Given the description of an element on the screen output the (x, y) to click on. 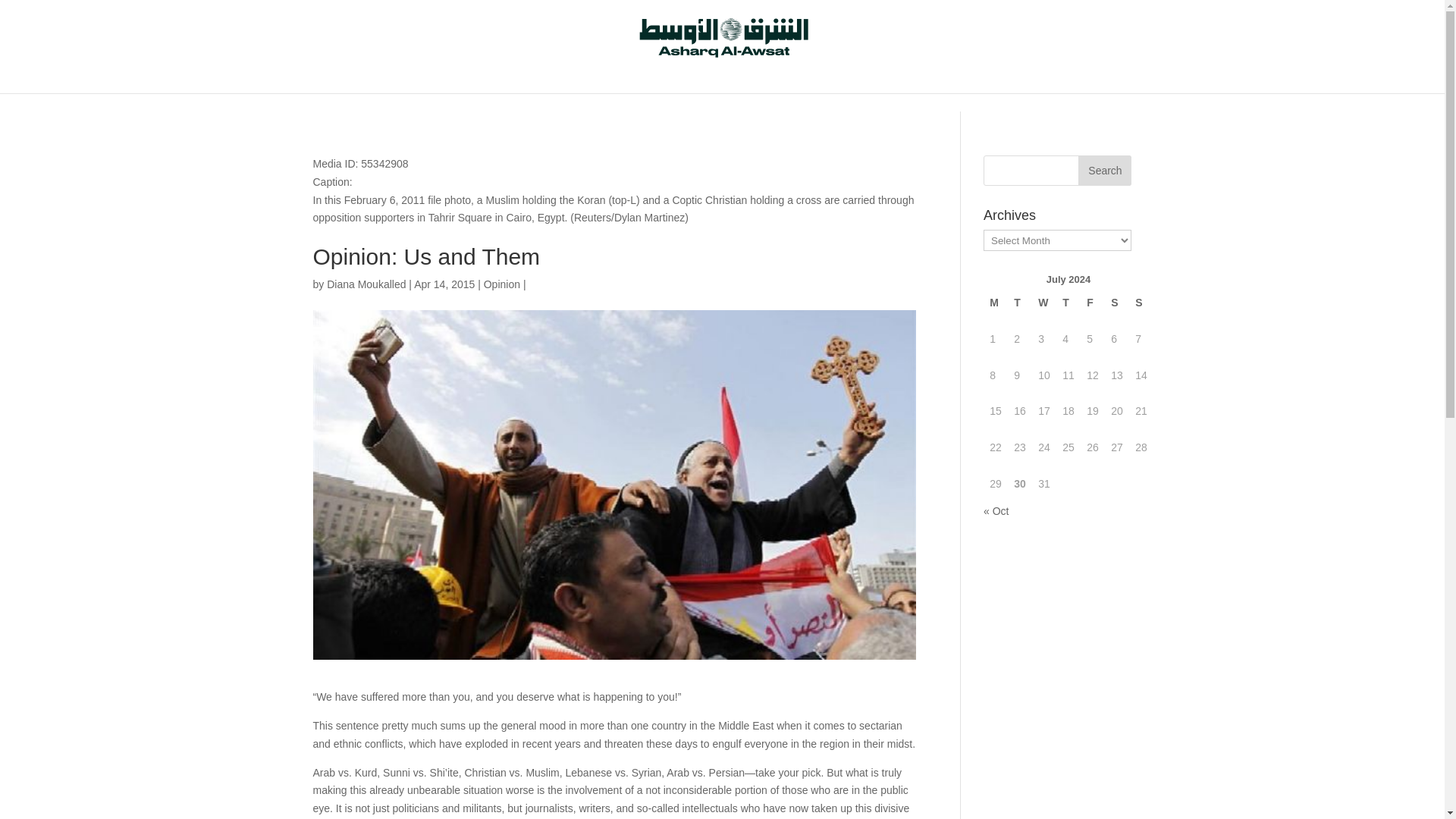
Search (1104, 170)
Posts by Diana Moukalled (366, 284)
Diana Moukalled (366, 284)
Search (1104, 170)
Opinion (501, 284)
